Given the description of an element on the screen output the (x, y) to click on. 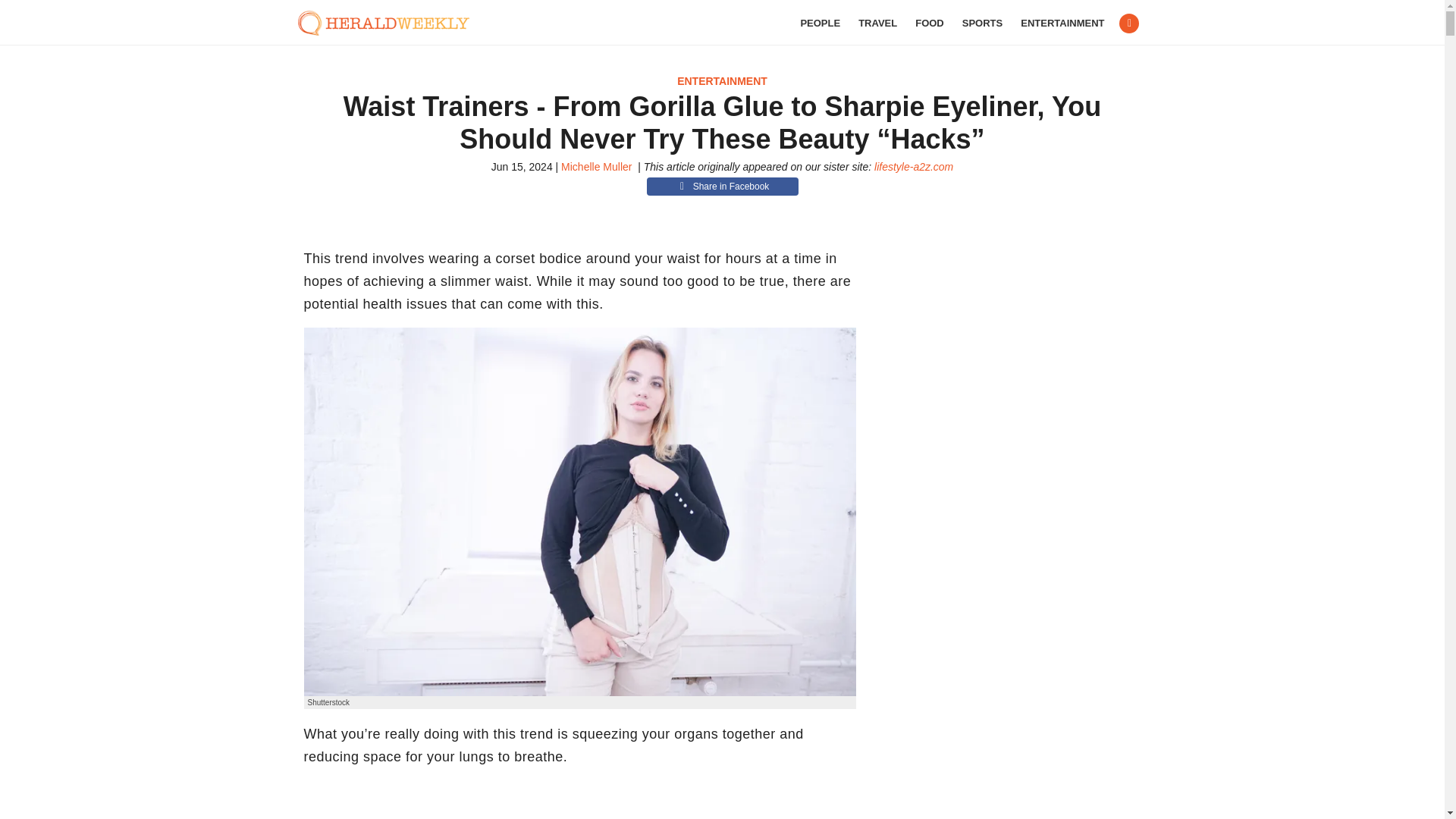
Herald Weekly (391, 22)
TRAVEL (877, 23)
Michelle Muller (595, 166)
Facebook (1128, 23)
ENTERTAINMENT (1061, 23)
SPORTS (982, 23)
ENTERTAINMENT (722, 80)
PEOPLE (819, 23)
lifestyle-a2z.com (914, 166)
Share in Facebook (721, 186)
